Given the description of an element on the screen output the (x, y) to click on. 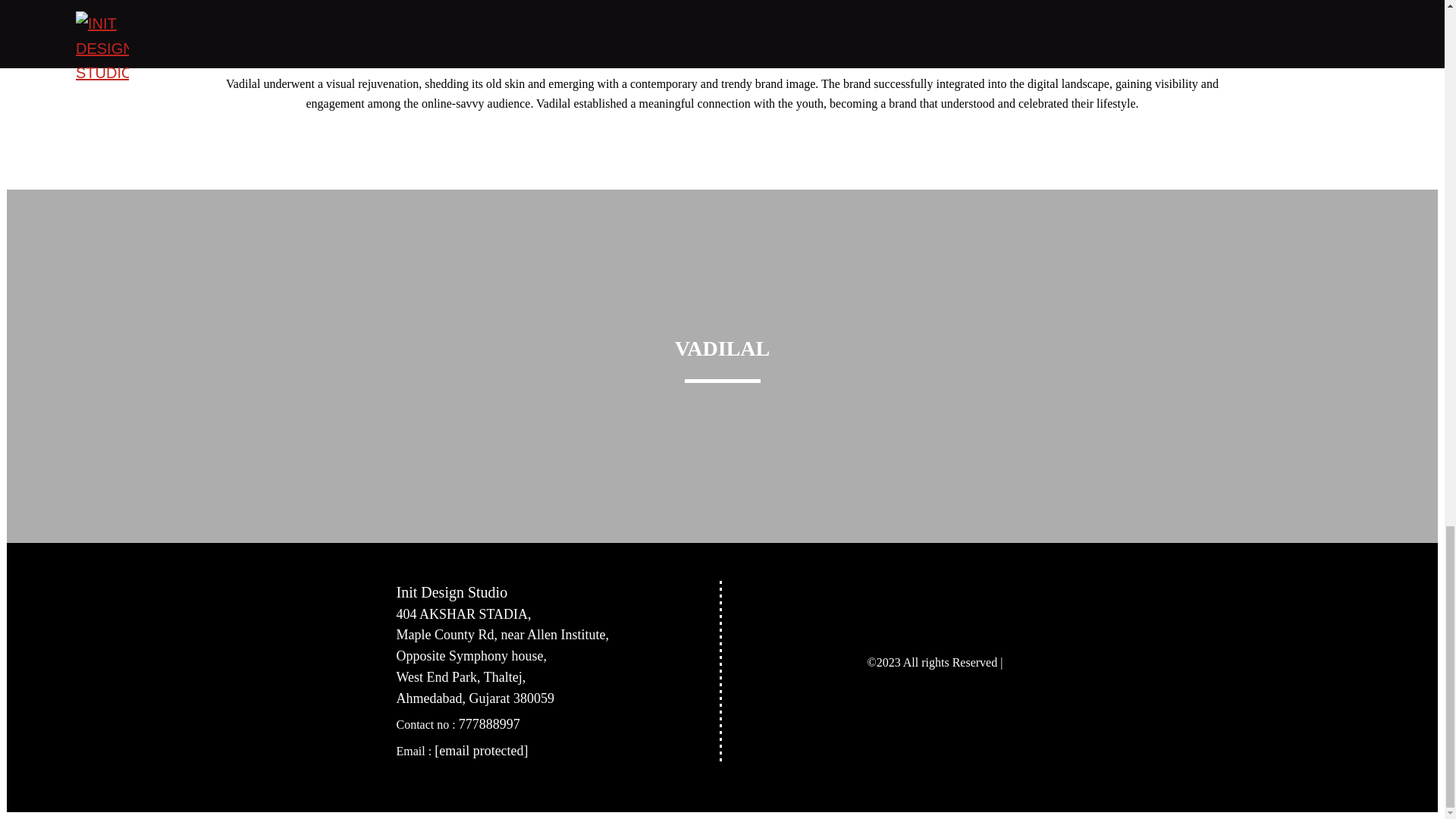
777888997 (488, 724)
